Given the description of an element on the screen output the (x, y) to click on. 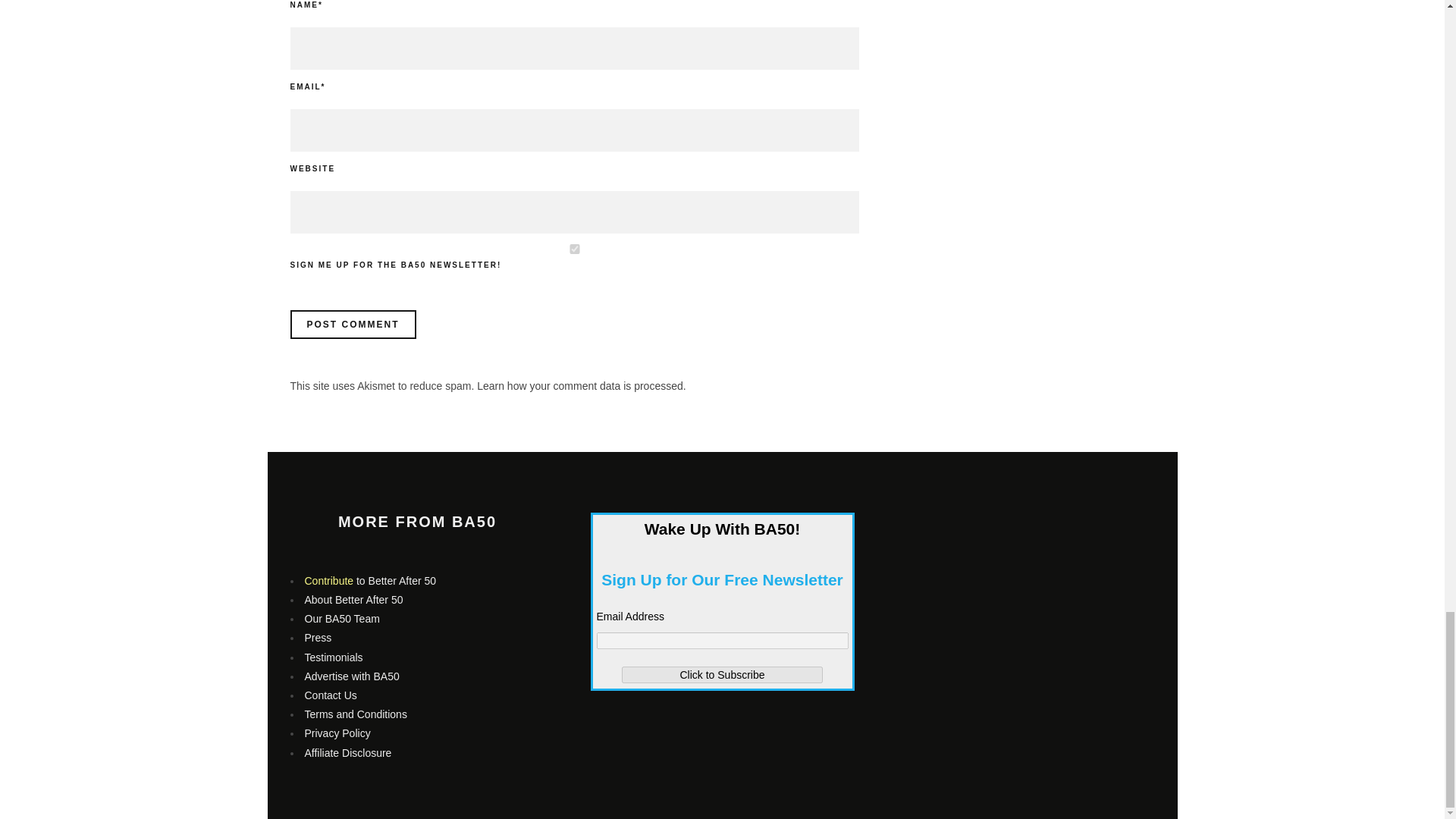
Click to Subscribe (722, 674)
Post Comment (351, 324)
1 (574, 248)
